Given the description of an element on the screen output the (x, y) to click on. 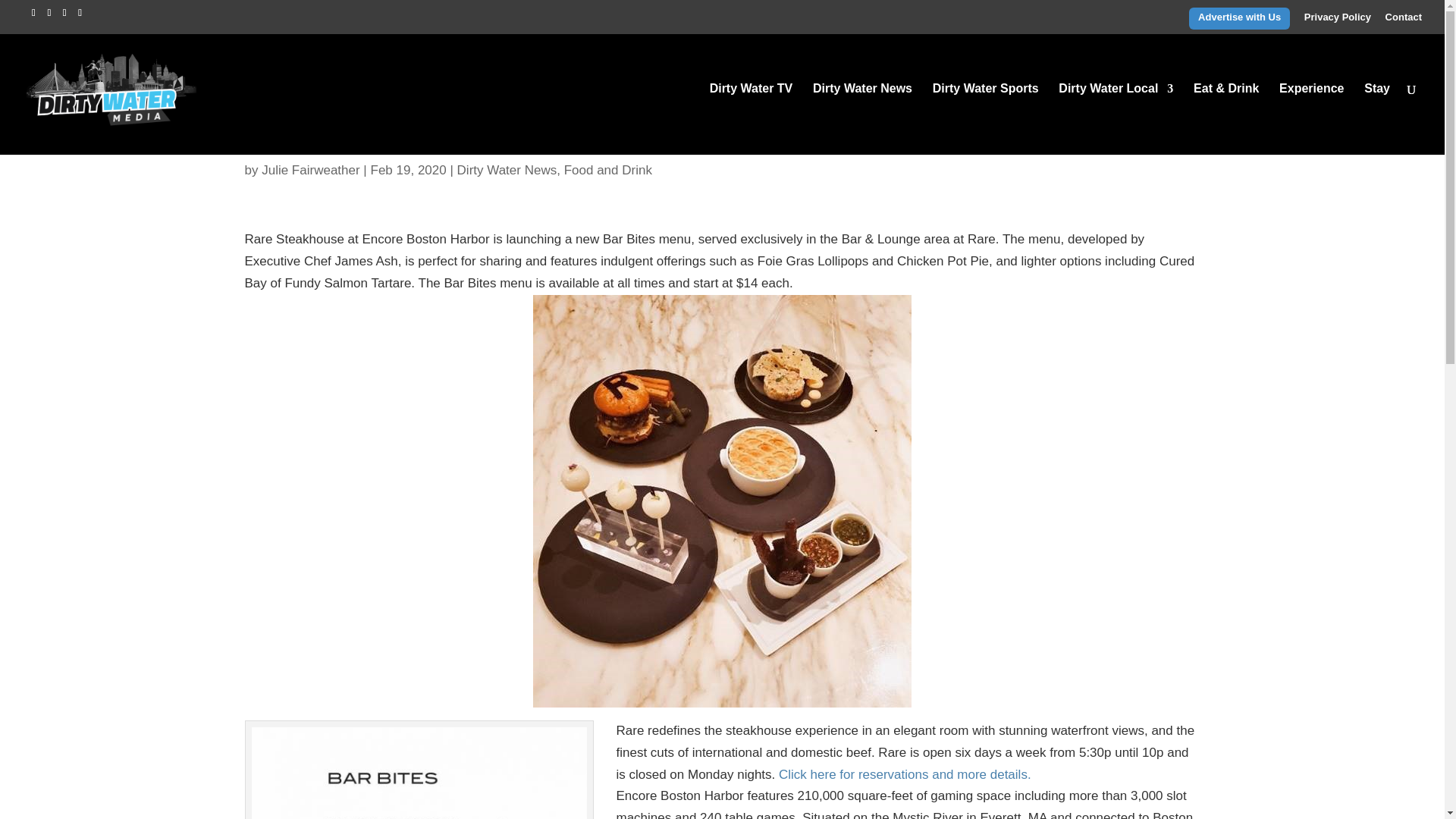
Food and Drink (608, 169)
Experience (1311, 118)
Dirty Water News (862, 118)
Click here for reservations and more details. (904, 774)
Advertise with Us (1239, 20)
Dirty Water TV (751, 118)
Dirty Water Sports (986, 118)
Dirty Water Local (1115, 118)
Privacy Policy (1337, 20)
Dirty Water News (507, 169)
Contact (1404, 20)
Julie Fairweather (310, 169)
Posts by Julie Fairweather (310, 169)
